Given the description of an element on the screen output the (x, y) to click on. 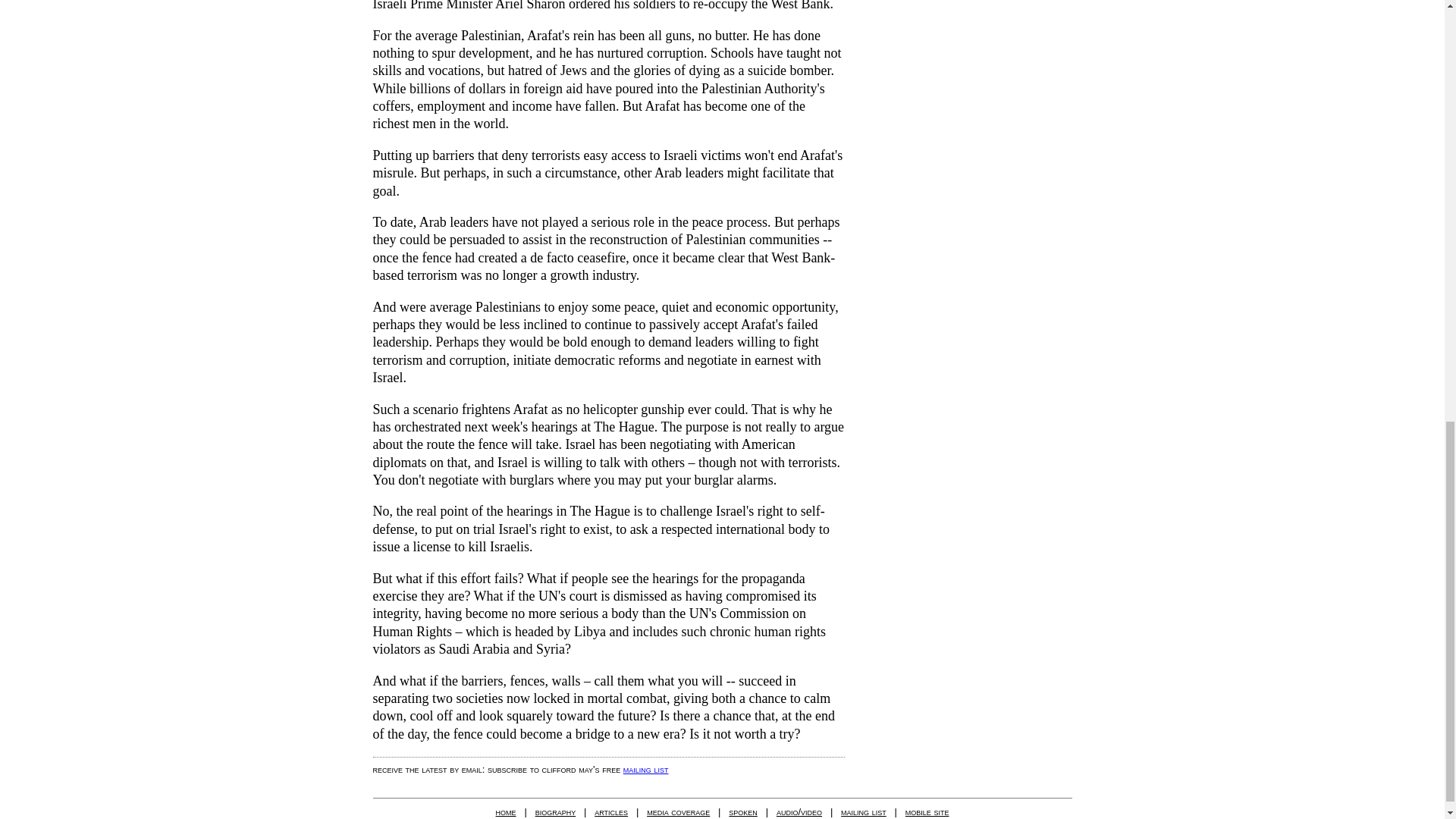
spoken (743, 811)
mailing list (645, 768)
articles (610, 811)
mobile site (927, 811)
mailing list (863, 811)
biography (555, 811)
home (506, 811)
media coverage (678, 811)
